Given the description of an element on the screen output the (x, y) to click on. 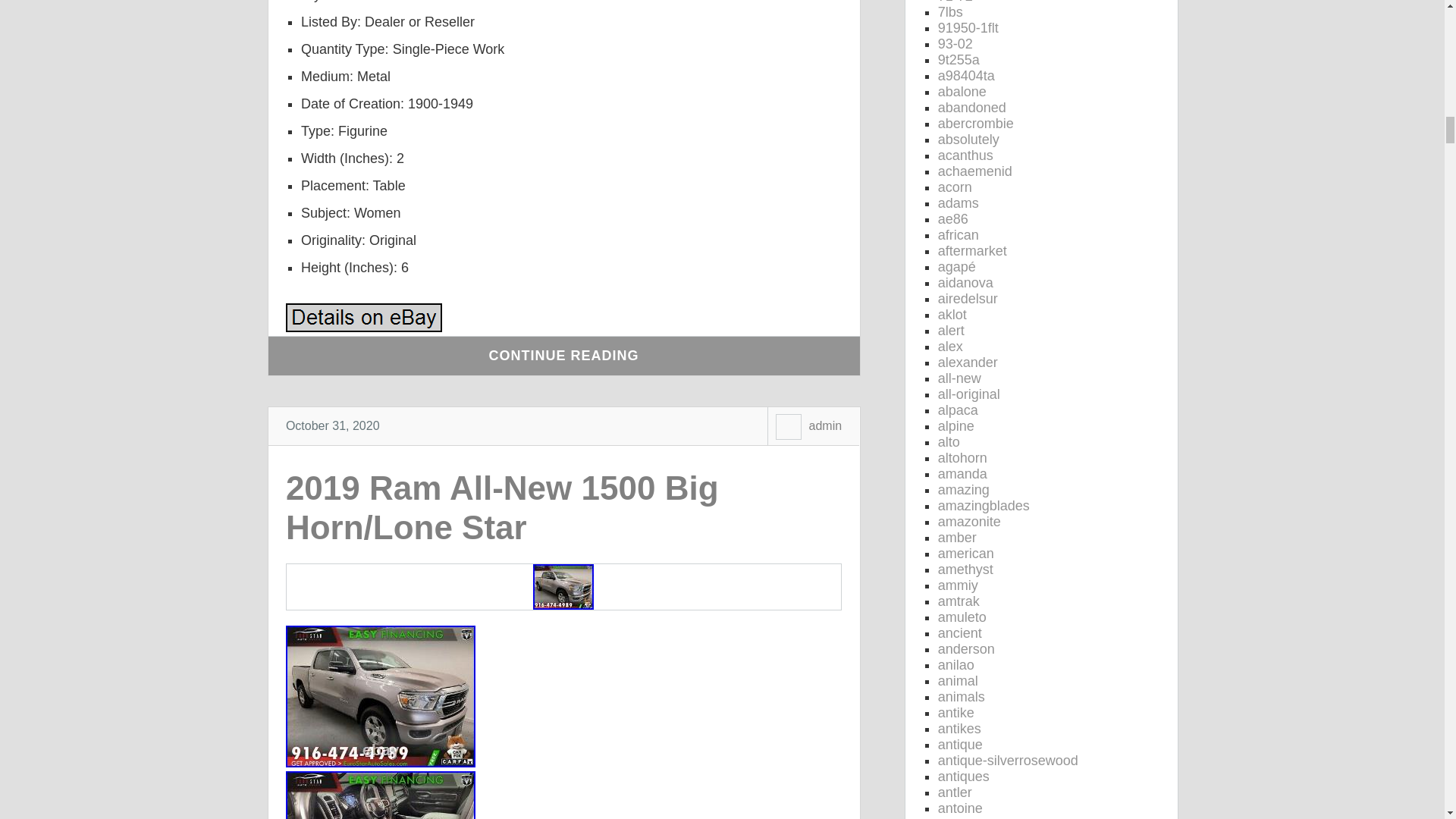
admin (824, 425)
CONTINUE READING (563, 355)
